Given the description of an element on the screen output the (x, y) to click on. 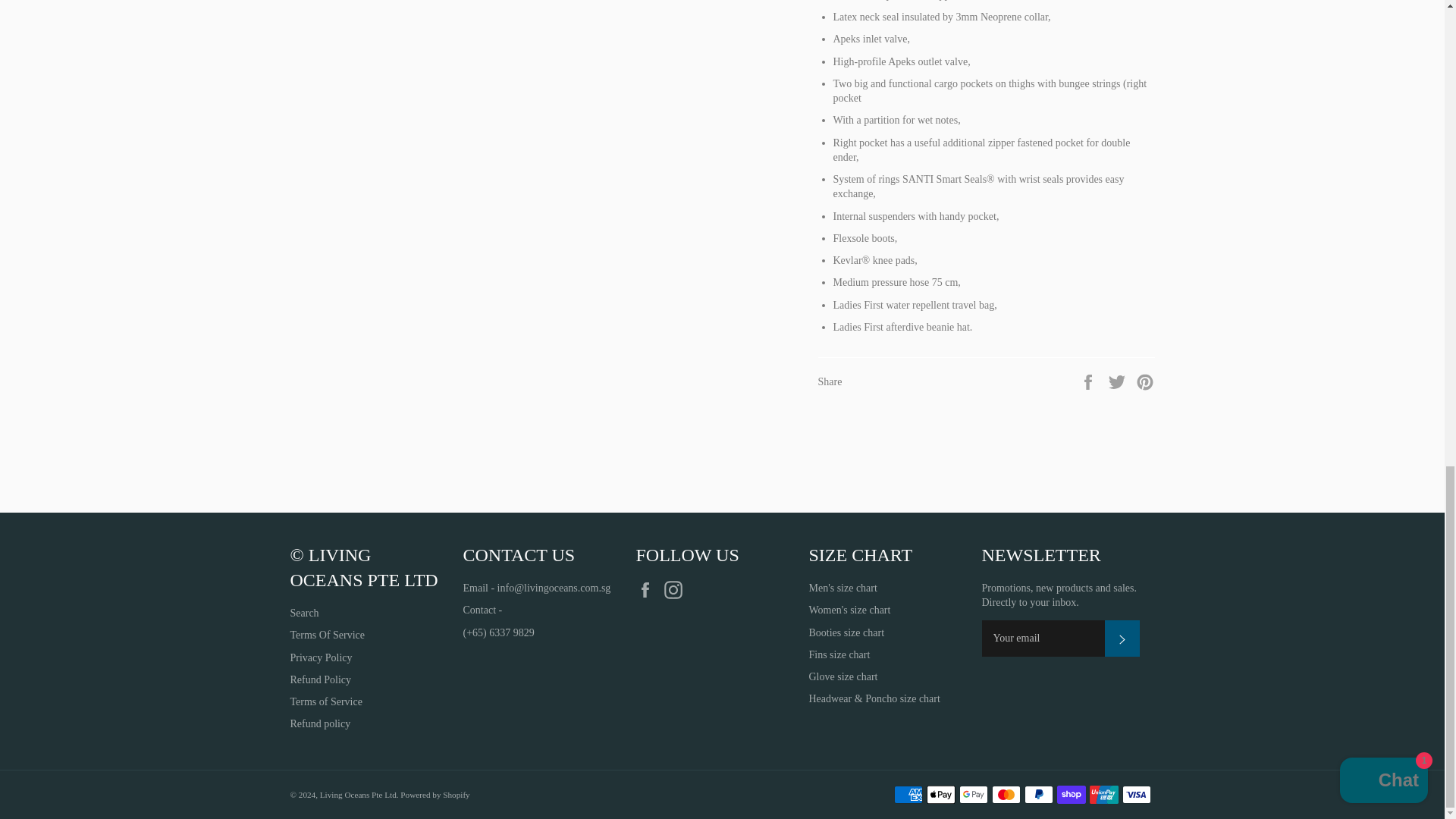
Living Oceans Pte Ltd on Instagram (676, 589)
Living Oceans Pte Ltd on Facebook (647, 589)
Pin on Pinterest (1144, 380)
Tweet on Twitter (1118, 380)
Share on Facebook (1089, 380)
